Given the description of an element on the screen output the (x, y) to click on. 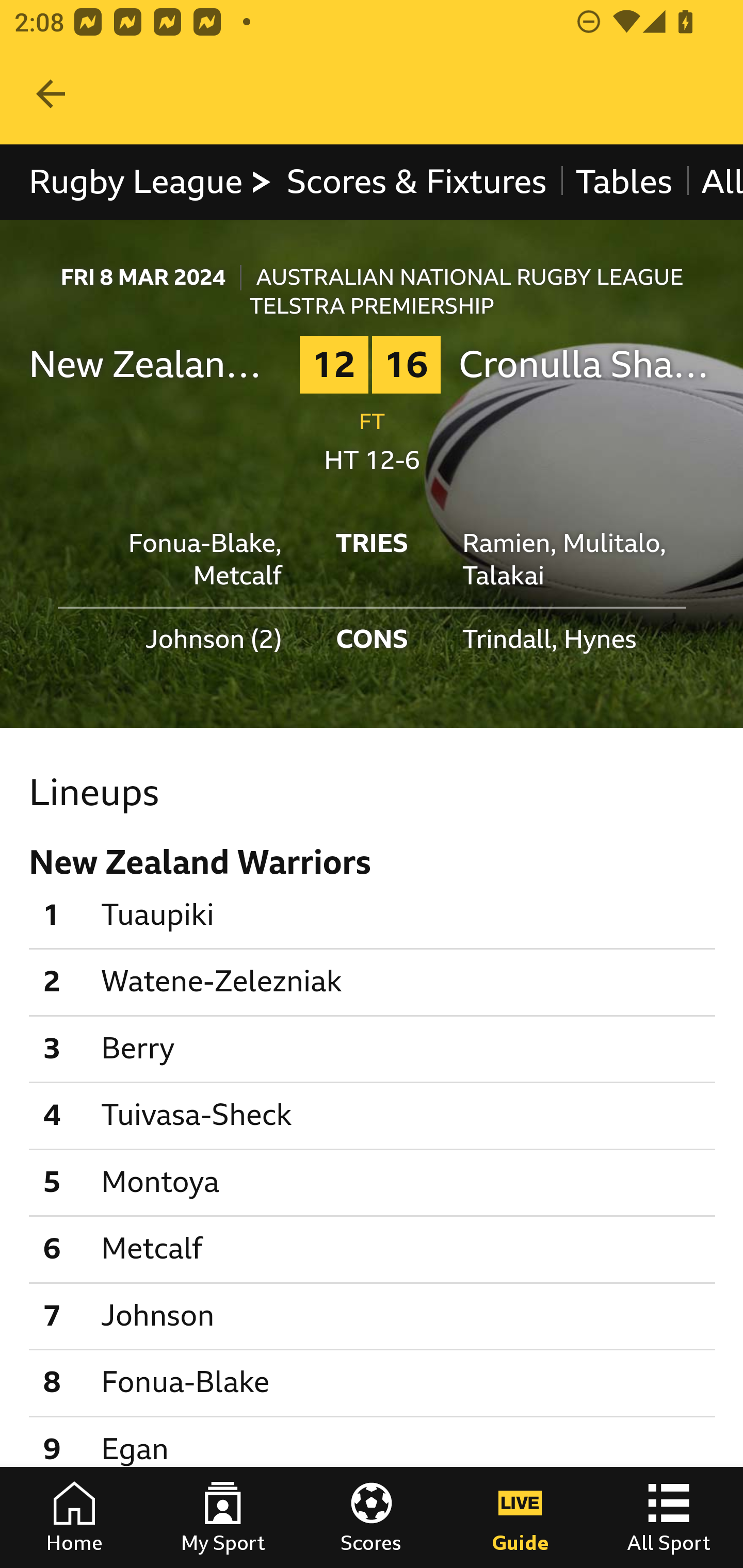
Navigate up (50, 93)
Rugby League  (150, 181)
Scores & Fixtures (416, 181)
Tables (623, 181)
Home (74, 1517)
My Sport (222, 1517)
Scores (371, 1517)
All Sport (668, 1517)
